Given the description of an element on the screen output the (x, y) to click on. 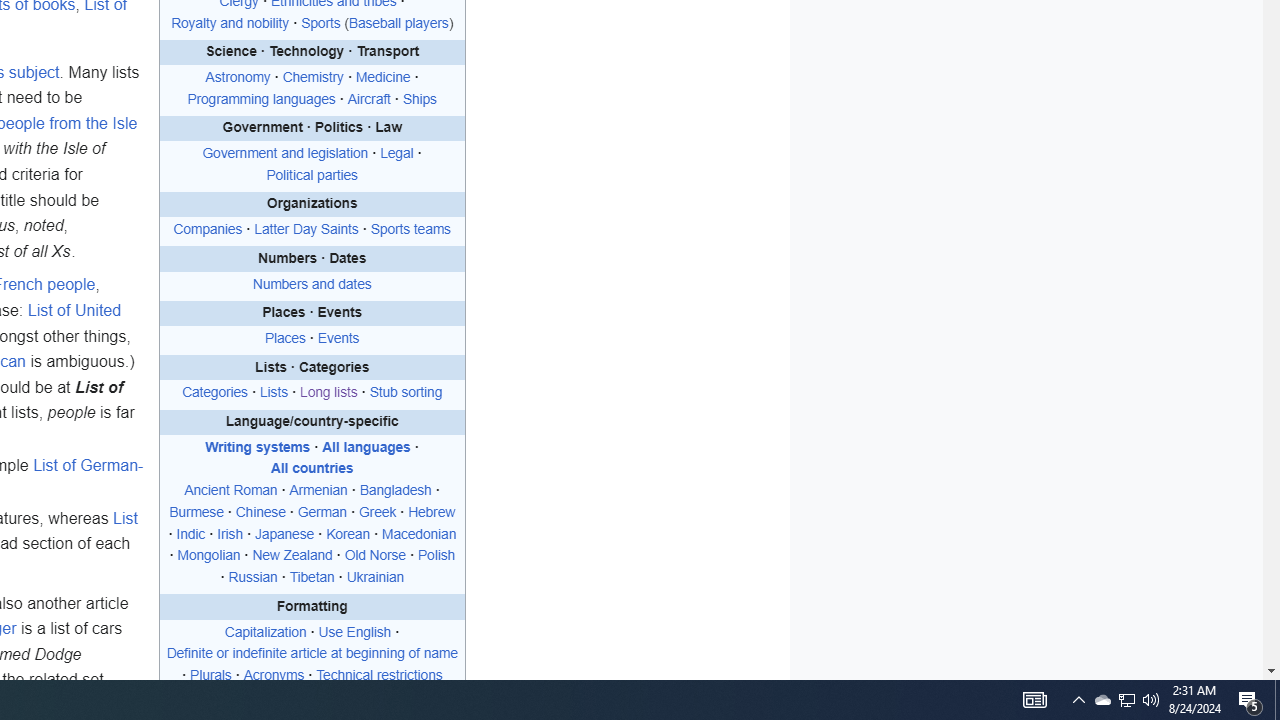
Events (338, 339)
Numbers and dates (312, 283)
Ukrainian (374, 578)
Sports (320, 22)
Plurals (210, 676)
Programming languages (260, 98)
Acronyms (273, 676)
Russian (252, 578)
Categories (214, 393)
Astronomy (237, 77)
Long lists (328, 393)
Writing systems (257, 447)
Chemistry (312, 77)
Greek (377, 511)
Mongolian (208, 555)
